Given the description of an element on the screen output the (x, y) to click on. 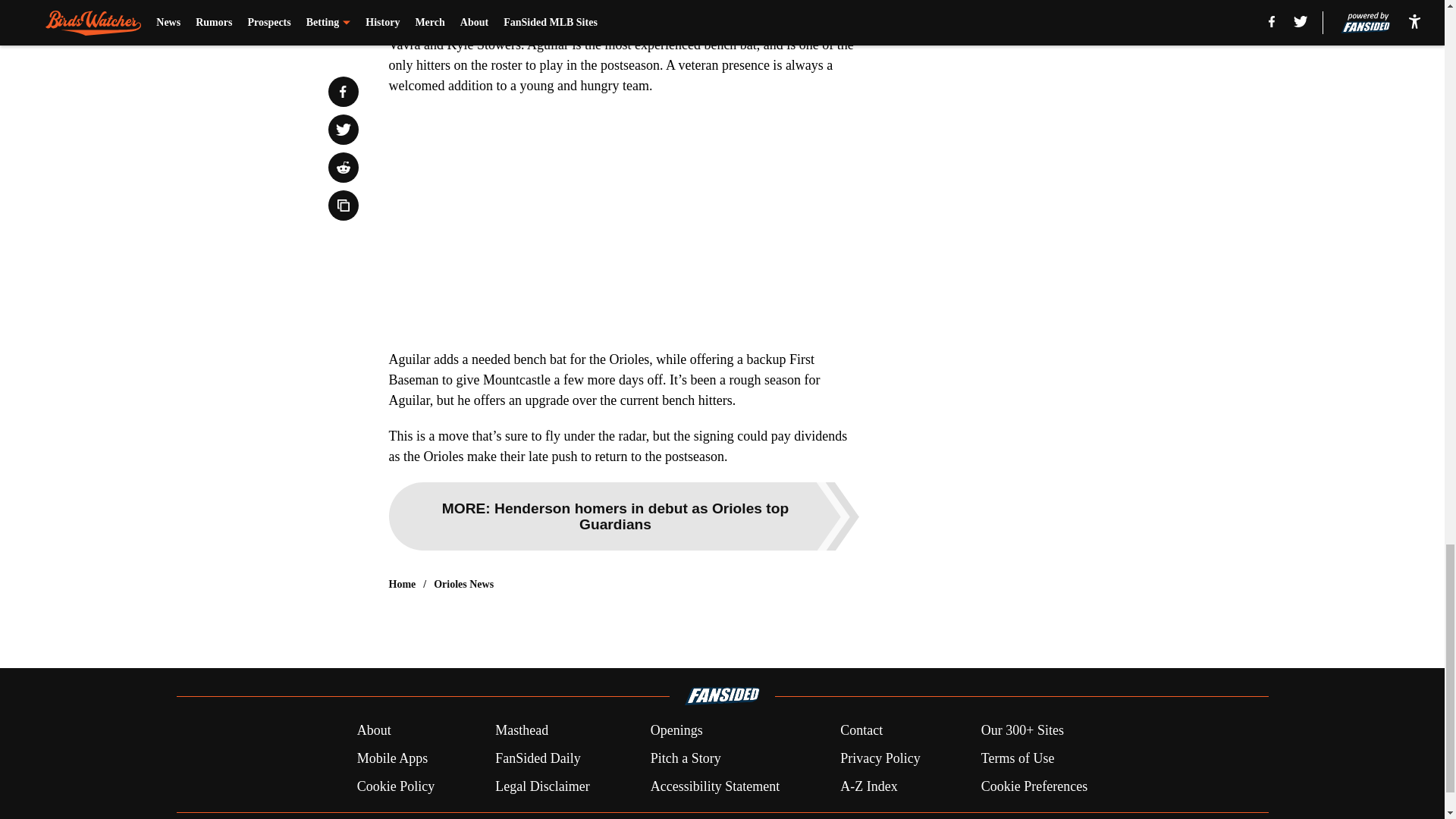
Pitch a Story (685, 758)
Legal Disclaimer (542, 786)
About (373, 730)
A-Z Index (868, 786)
Orioles News (463, 584)
Terms of Use (1017, 758)
Home (401, 584)
Privacy Policy (880, 758)
Openings (676, 730)
MORE: Henderson homers in debut as Orioles top Guardians (623, 516)
Masthead (521, 730)
Mobile Apps (392, 758)
Contact (861, 730)
Accessibility Statement (714, 786)
FanSided Daily (537, 758)
